Given the description of an element on the screen output the (x, y) to click on. 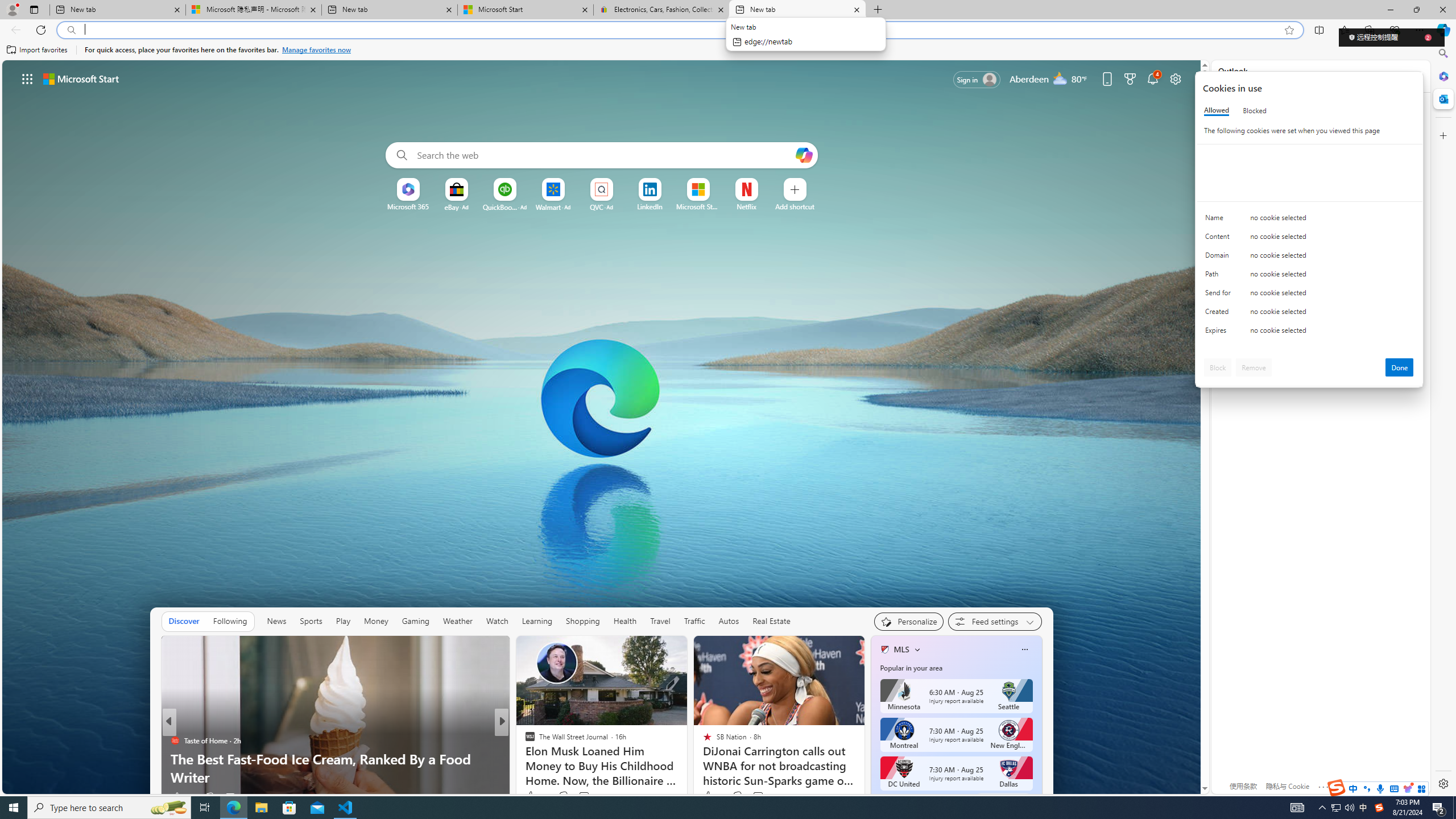
no cookie selected (1331, 332)
Done (1399, 367)
AutomationID: backgroundImagePicture (601, 426)
Real Estate (771, 621)
347 Like (532, 796)
House Digest (524, 740)
Traffic (694, 621)
Expires (1219, 332)
View comments 247 Comment (580, 797)
831 Like (532, 796)
Health (624, 621)
